Given the description of an element on the screen output the (x, y) to click on. 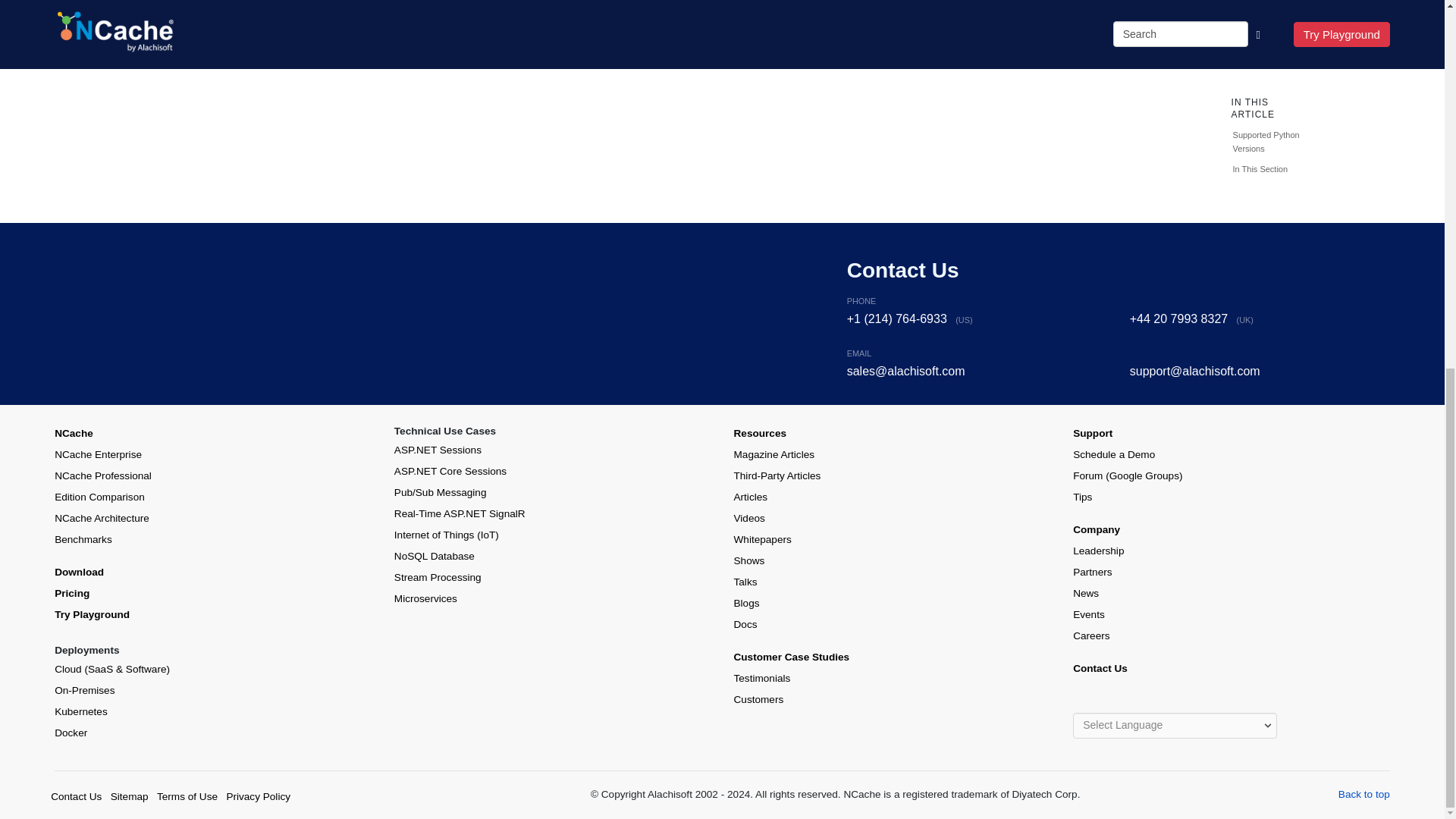
Italian (1137, 704)
Korean (1165, 704)
NoSQL Database (434, 555)
Magazine Articles (774, 454)
ASP.NET Sessions (437, 449)
Resources (760, 432)
Spanish (1195, 704)
NCache Architecture (102, 518)
Benchmarks (83, 539)
Stream Processing (437, 577)
Docker (71, 732)
Kubernetes (81, 711)
Portuguese (1180, 704)
Third-Party Articles (777, 475)
Edition Comparison (99, 496)
